Given the description of an element on the screen output the (x, y) to click on. 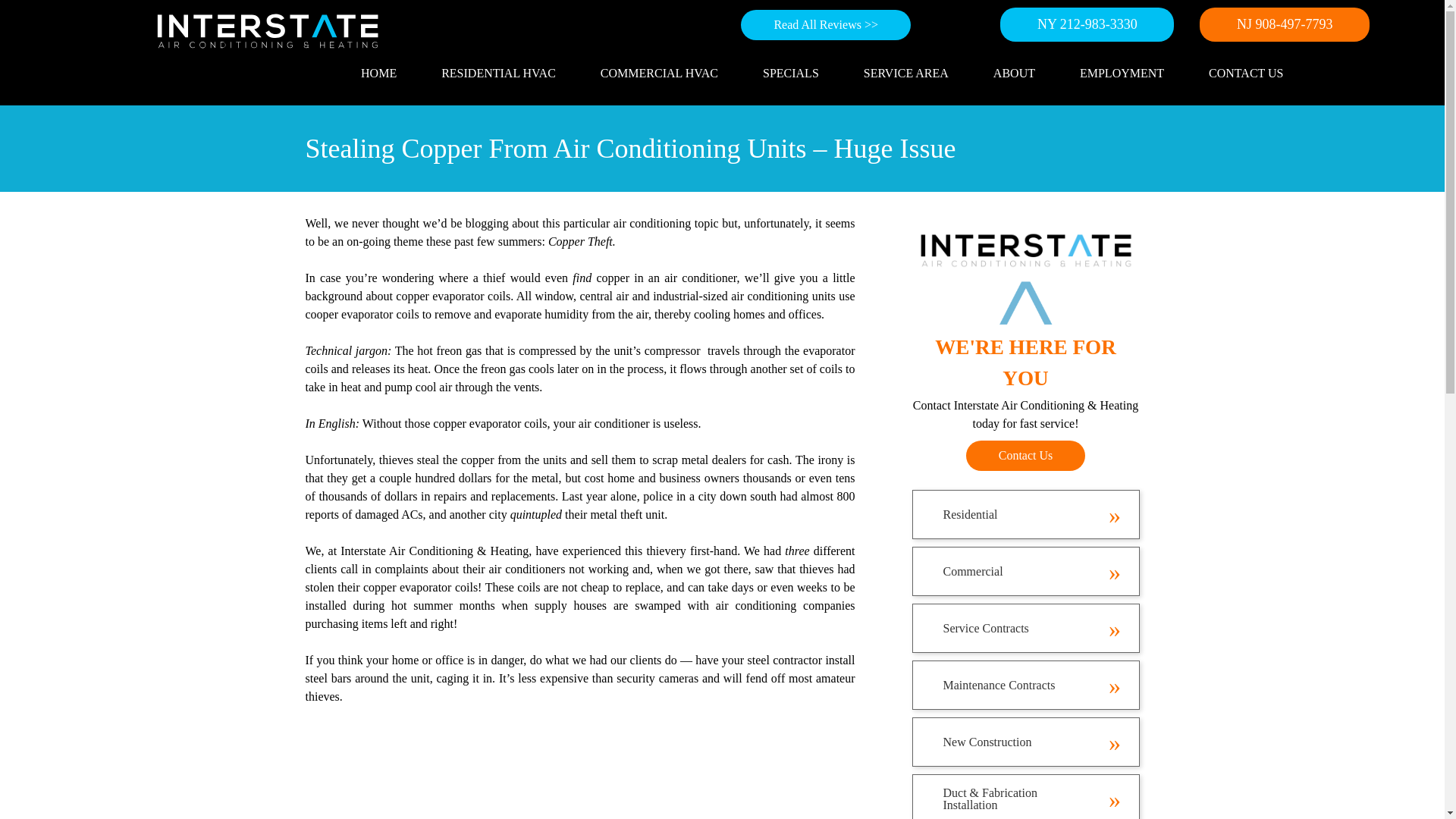
NJ 908-497-7793 (1284, 24)
HOME (379, 73)
SERVICE AREA (905, 73)
RESIDENTIAL HVAC (498, 73)
SPECIALS (791, 73)
COMMERCIAL HVAC (659, 73)
NY 212-983-3330 (1086, 24)
ABOUT (1013, 73)
